Given the description of an element on the screen output the (x, y) to click on. 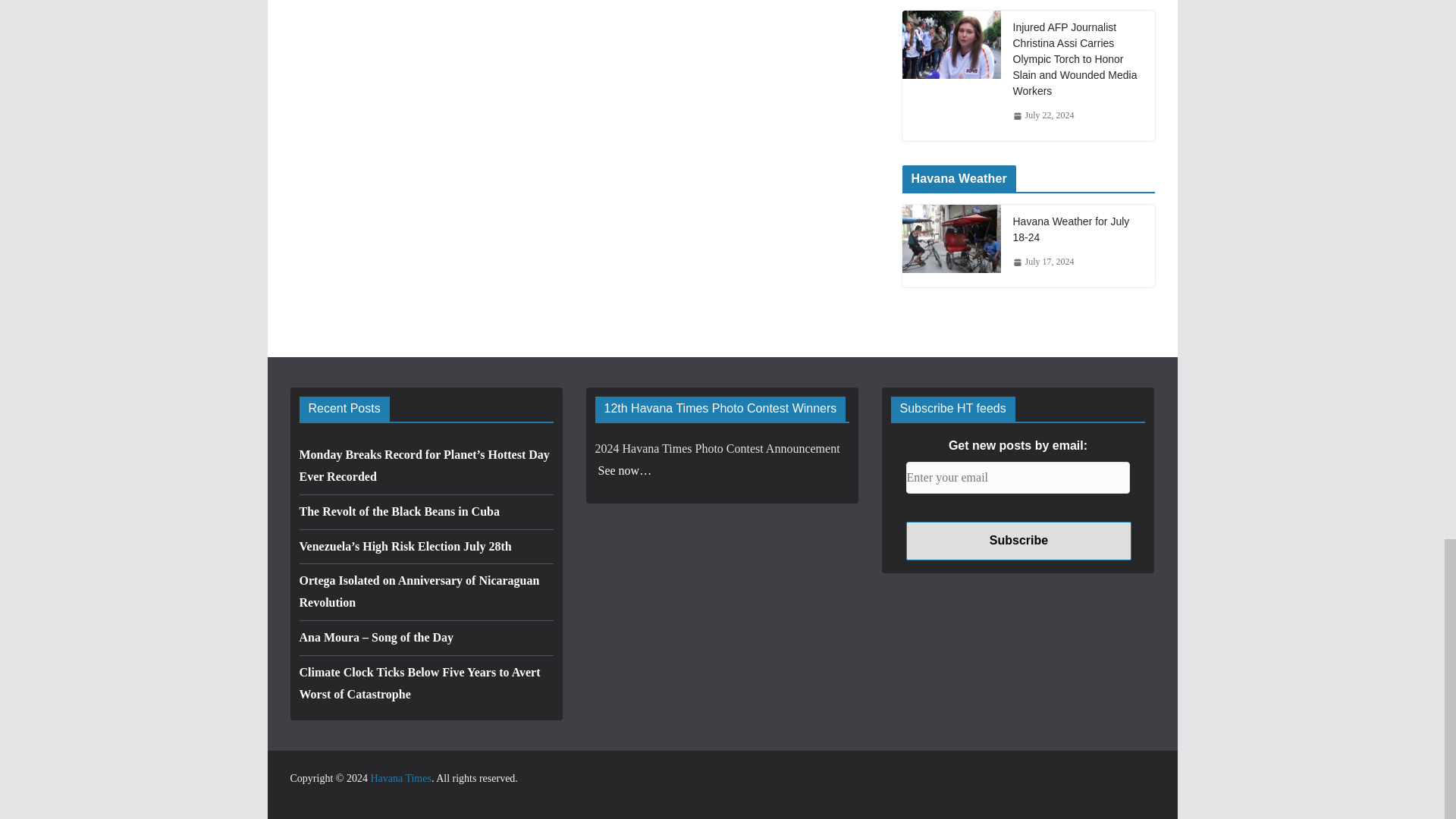
Subscribe (1018, 540)
